Given the description of an element on the screen output the (x, y) to click on. 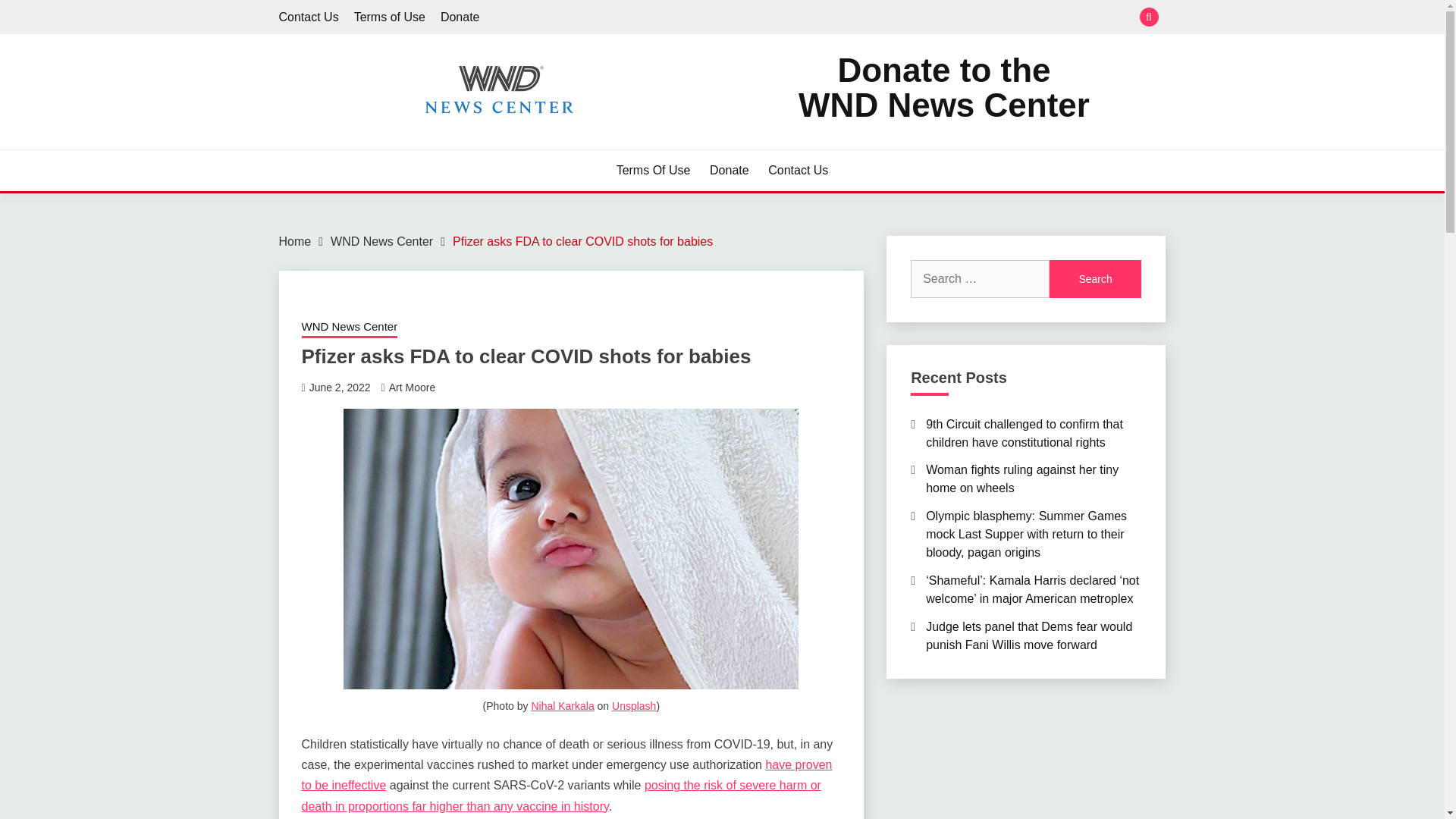
Contact Us (798, 170)
Pfizer asks FDA to clear COVID shots for babies (582, 241)
Search (832, 18)
Unsplash (633, 705)
Terms Of Use (652, 170)
WND News Center (349, 328)
Search (1095, 279)
WND NEWS CENTER (419, 142)
Art Moore (411, 387)
have proven to be ineffective (566, 774)
Terms of Use (389, 16)
Search (943, 87)
WND News Center (1095, 279)
